Given the description of an element on the screen output the (x, y) to click on. 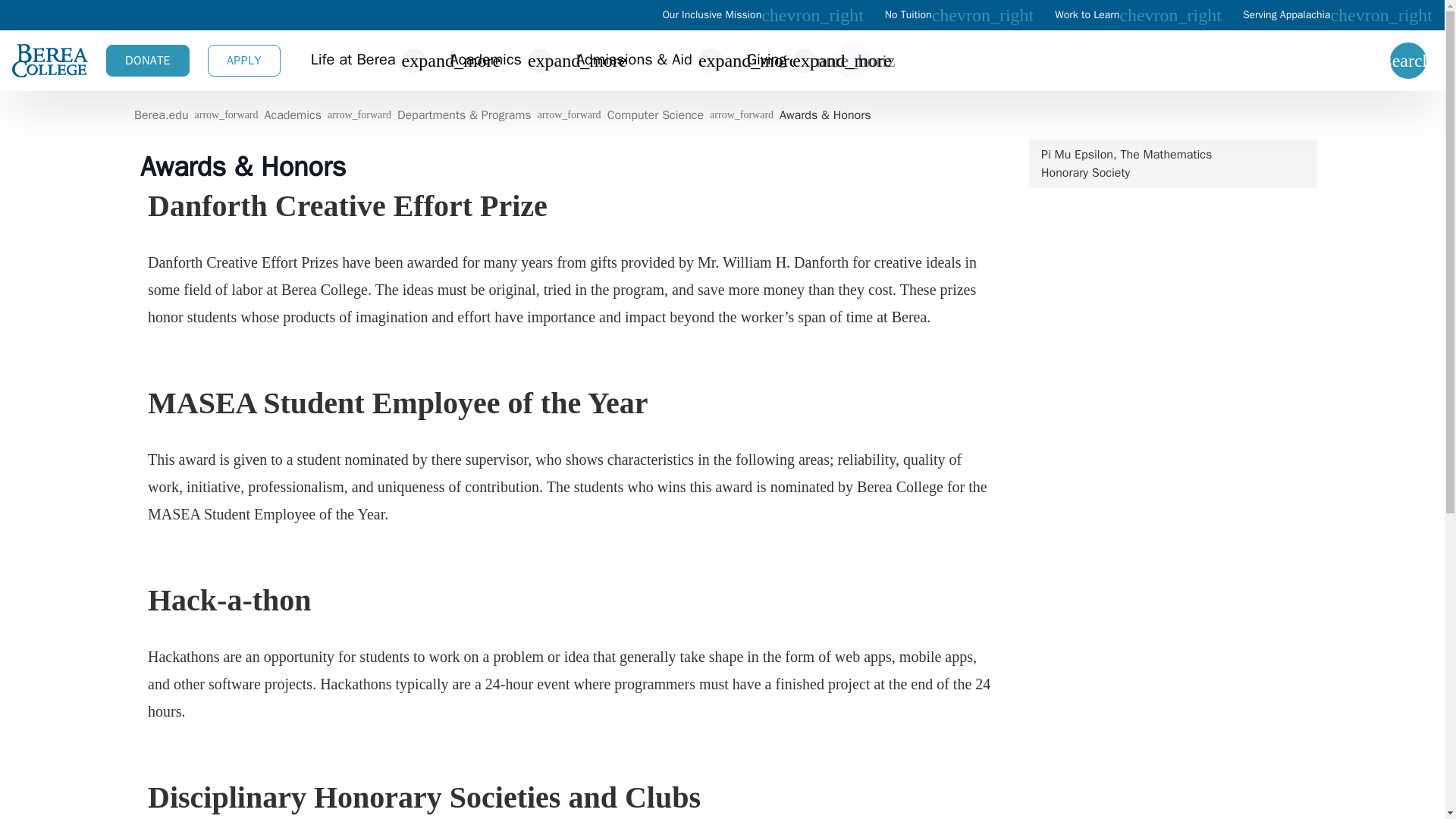
Academics (291, 115)
Academics (485, 60)
DONATE (147, 60)
Life at Berea (353, 60)
Berea College - (49, 60)
search (1408, 60)
Berea.edu (160, 115)
Computer Science (654, 115)
APPLY (244, 60)
Pi Mu Epsilon, The Mathematics Honorary Society (1171, 163)
Giving (766, 60)
